Given the description of an element on the screen output the (x, y) to click on. 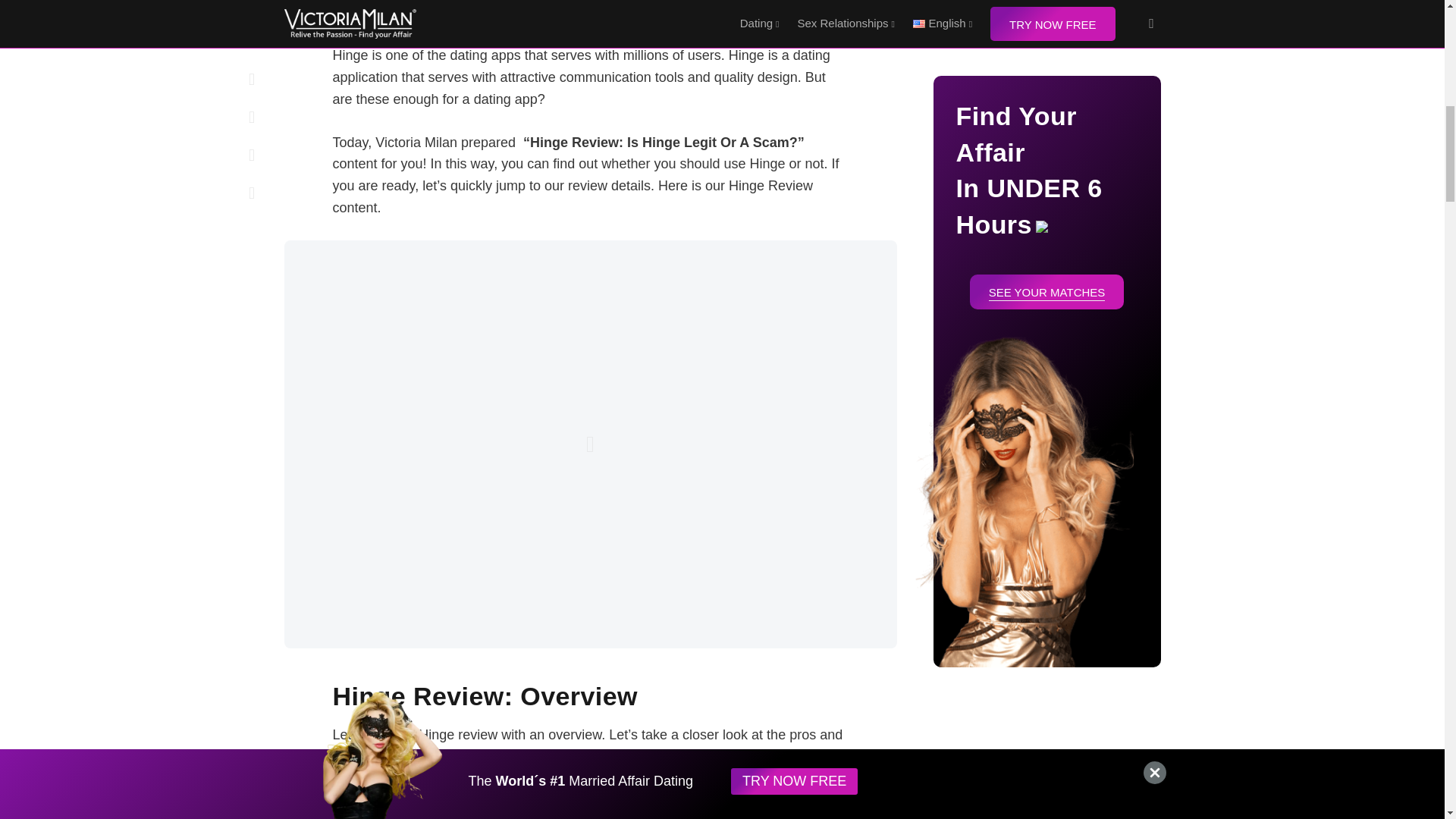
Is Hinge Safe? (428, 2)
